Given the description of an element on the screen output the (x, y) to click on. 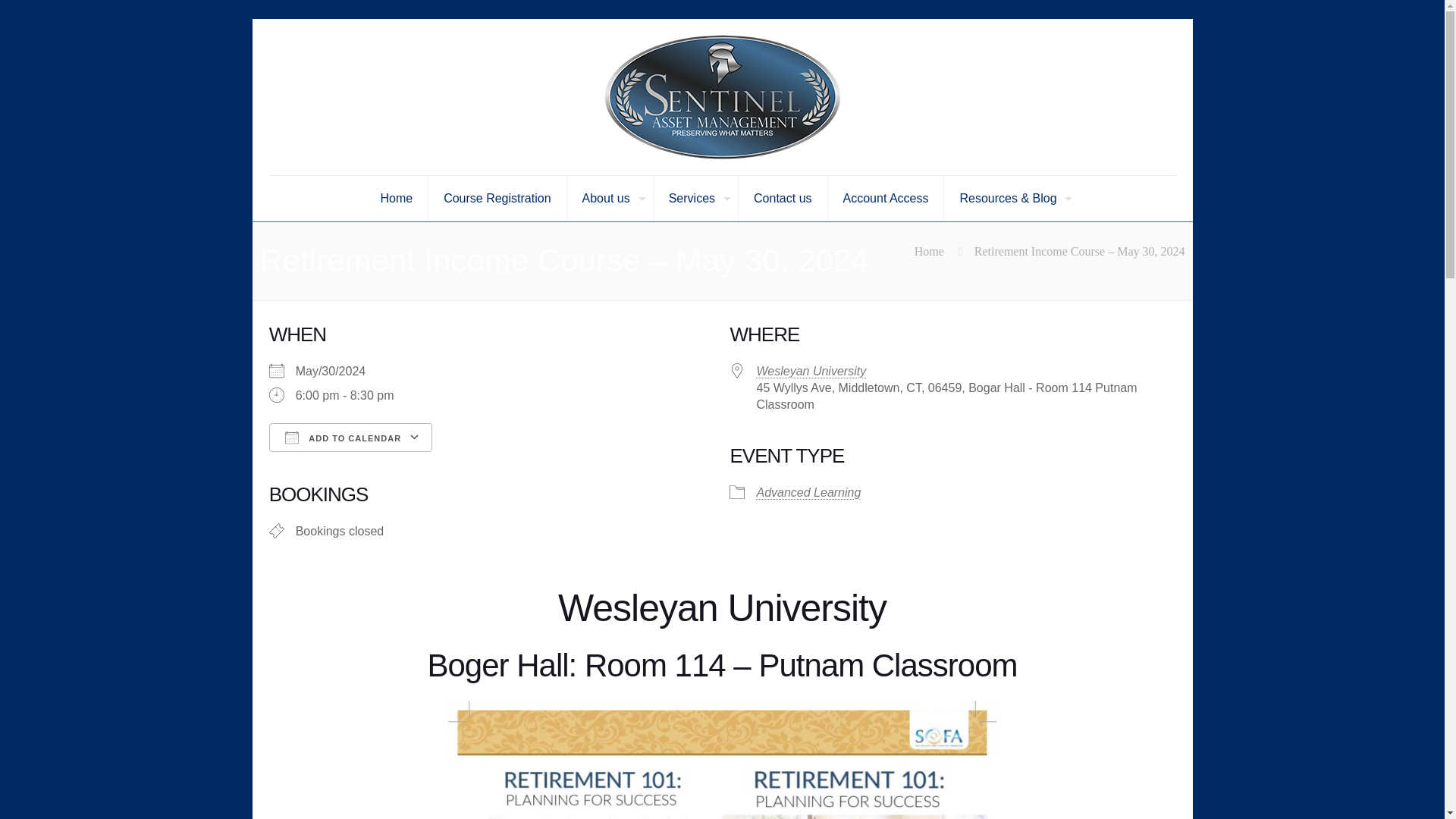
Home (396, 198)
Sentinel Asset Management, LLC. (721, 96)
Course Registration (497, 198)
Home (928, 250)
Google Calendar (492, 464)
Advanced Learning (807, 492)
Account Access (886, 198)
ADD TO CALENDAR (350, 437)
Contact us (782, 198)
Download ICS (342, 464)
Wesleyan University (810, 370)
Services (695, 198)
About us (610, 198)
